Given the description of an element on the screen output the (x, y) to click on. 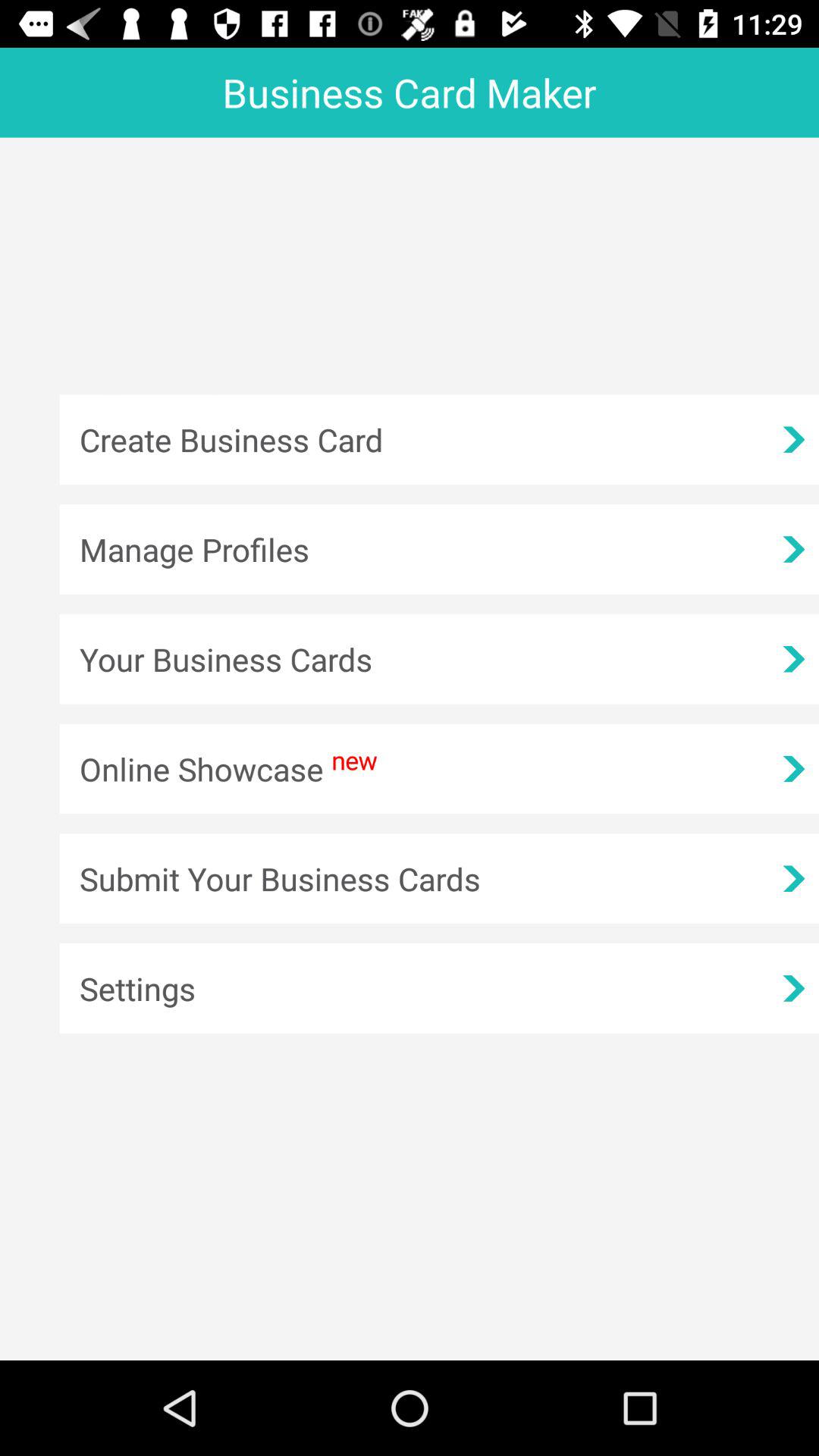
select the arrow which is beside your business cards (793, 659)
select the fourth arrow which is below the text your business cards (793, 768)
select the settings option (439, 988)
click on second right arrow from bottom (793, 879)
